Given the description of an element on the screen output the (x, y) to click on. 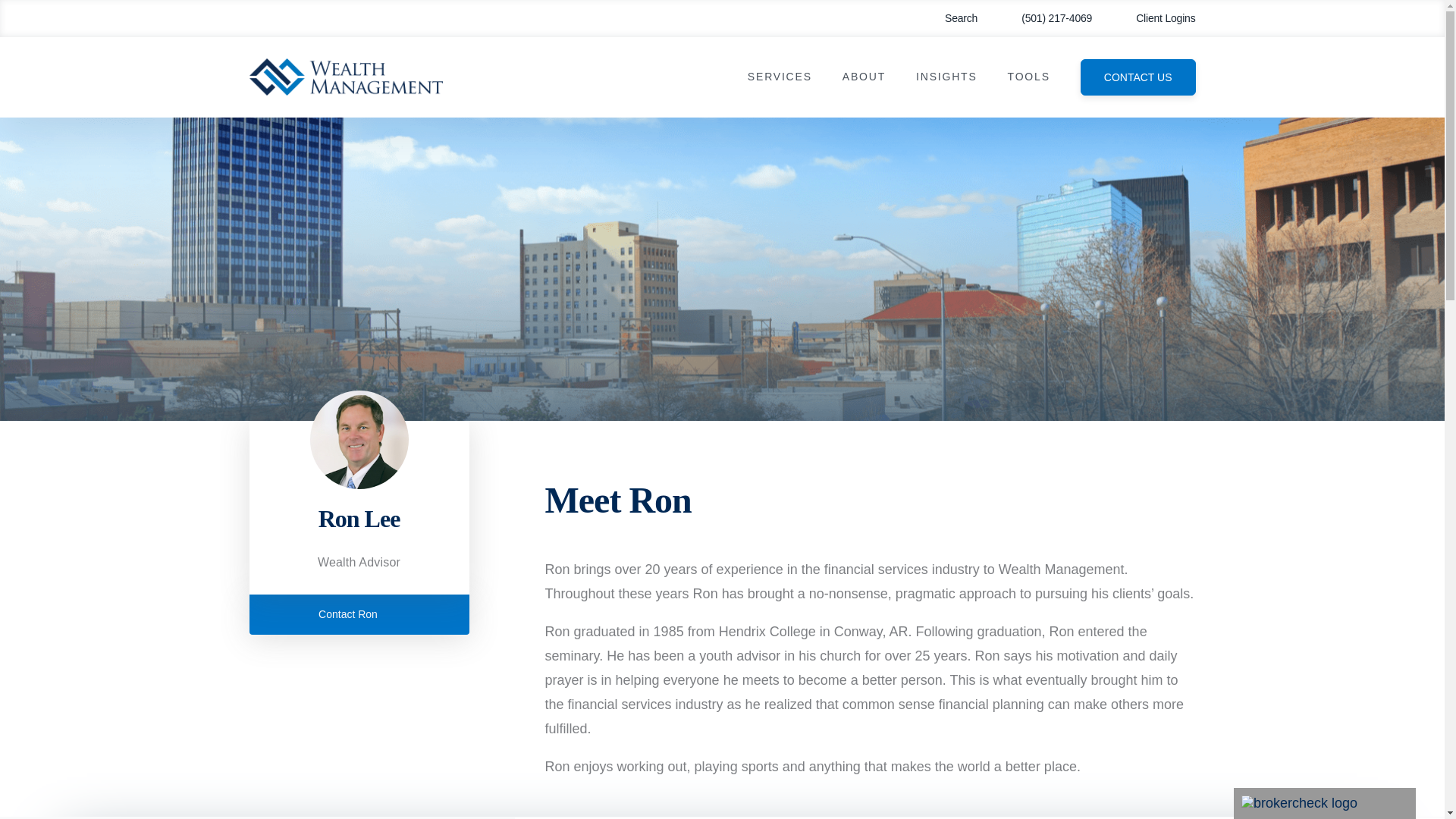
TOOLS (1028, 77)
INSIGHTS (945, 77)
Search (949, 18)
ABOUT (864, 77)
SERVICES (780, 77)
Client Logins (1155, 18)
CONTACT US (1137, 76)
